Given the description of an element on the screen output the (x, y) to click on. 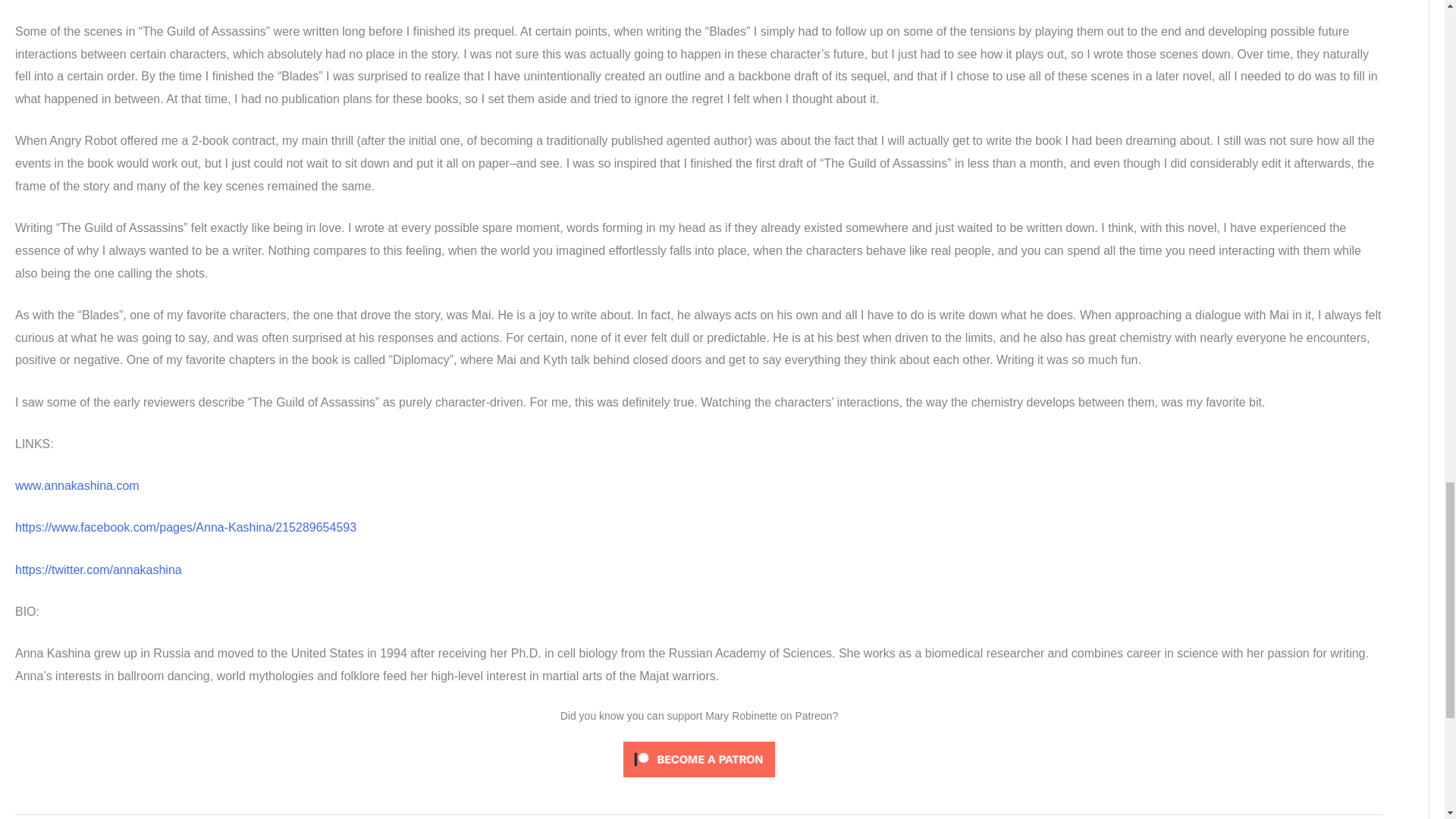
Facebook (185, 526)
www.annakashina.com (76, 485)
Twitter (98, 569)
Anna Kashina (76, 485)
